Given the description of an element on the screen output the (x, y) to click on. 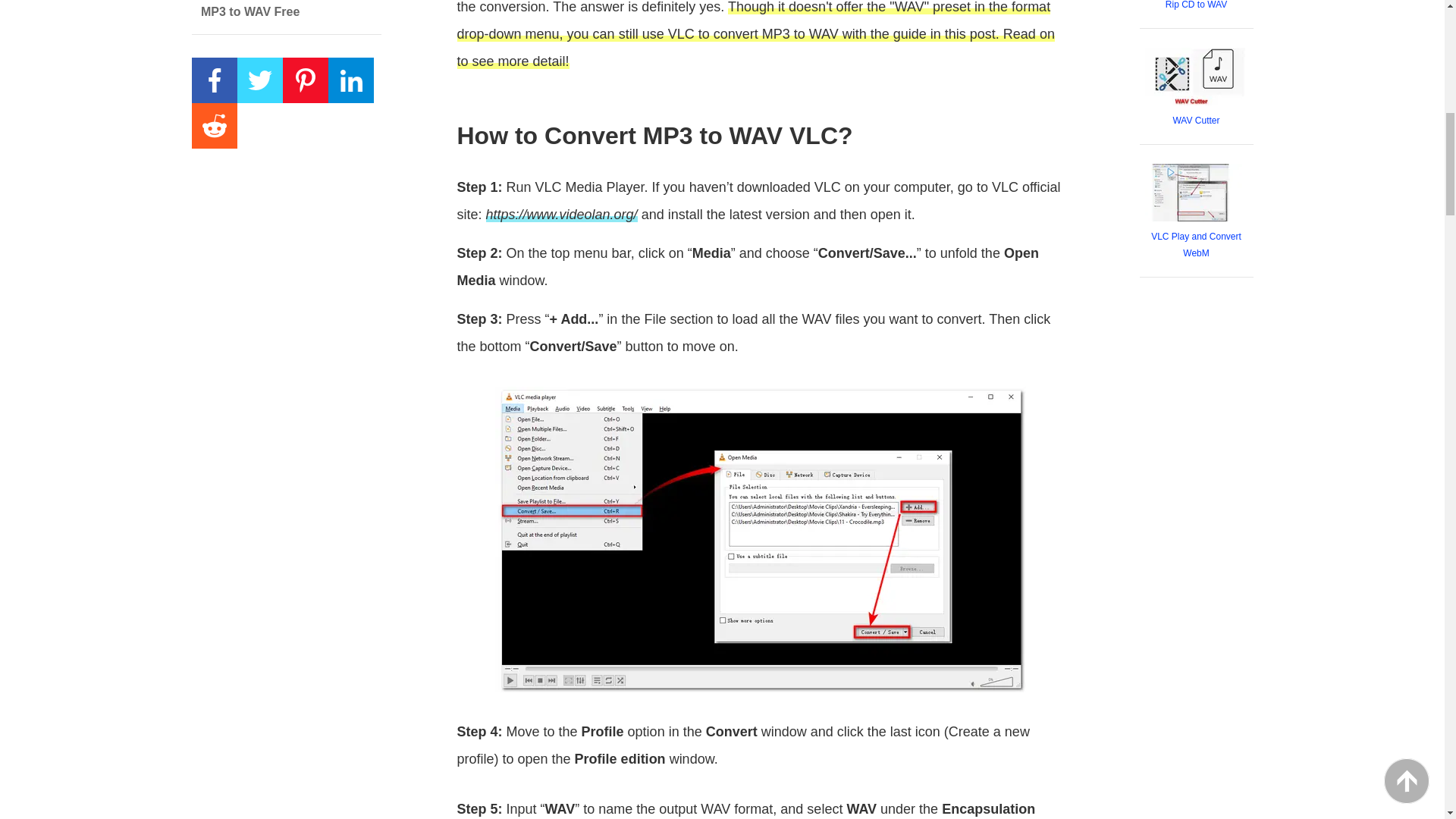
Twitter (258, 80)
Reddit (212, 125)
Linkedin (349, 80)
2: An Easier Way to Convert MP3 to WAV Free (285, 17)
Pinterest (304, 80)
Facebook (212, 80)
